Given the description of an element on the screen output the (x, y) to click on. 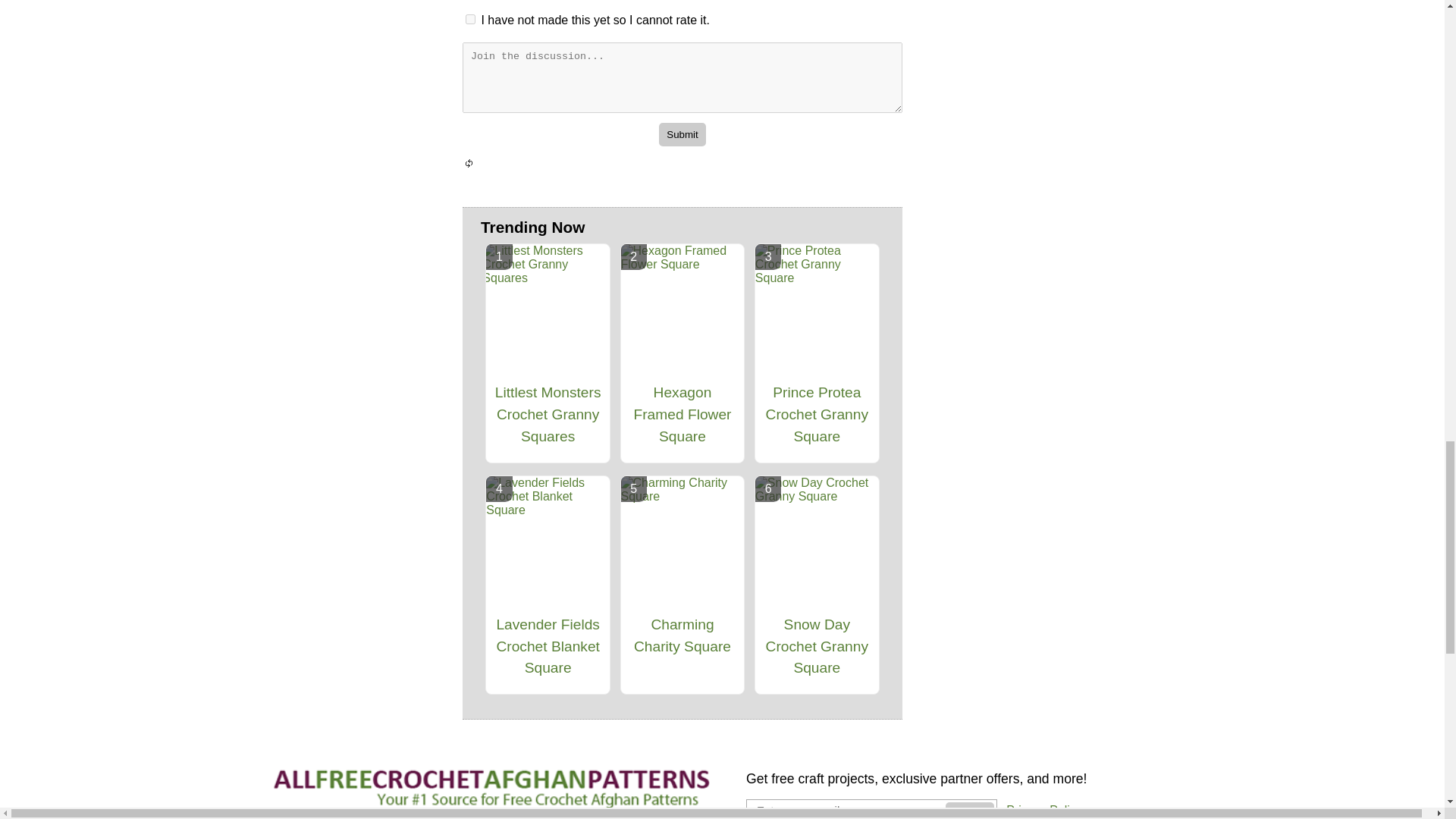
1 (470, 19)
Submit (681, 134)
